Given the description of an element on the screen output the (x, y) to click on. 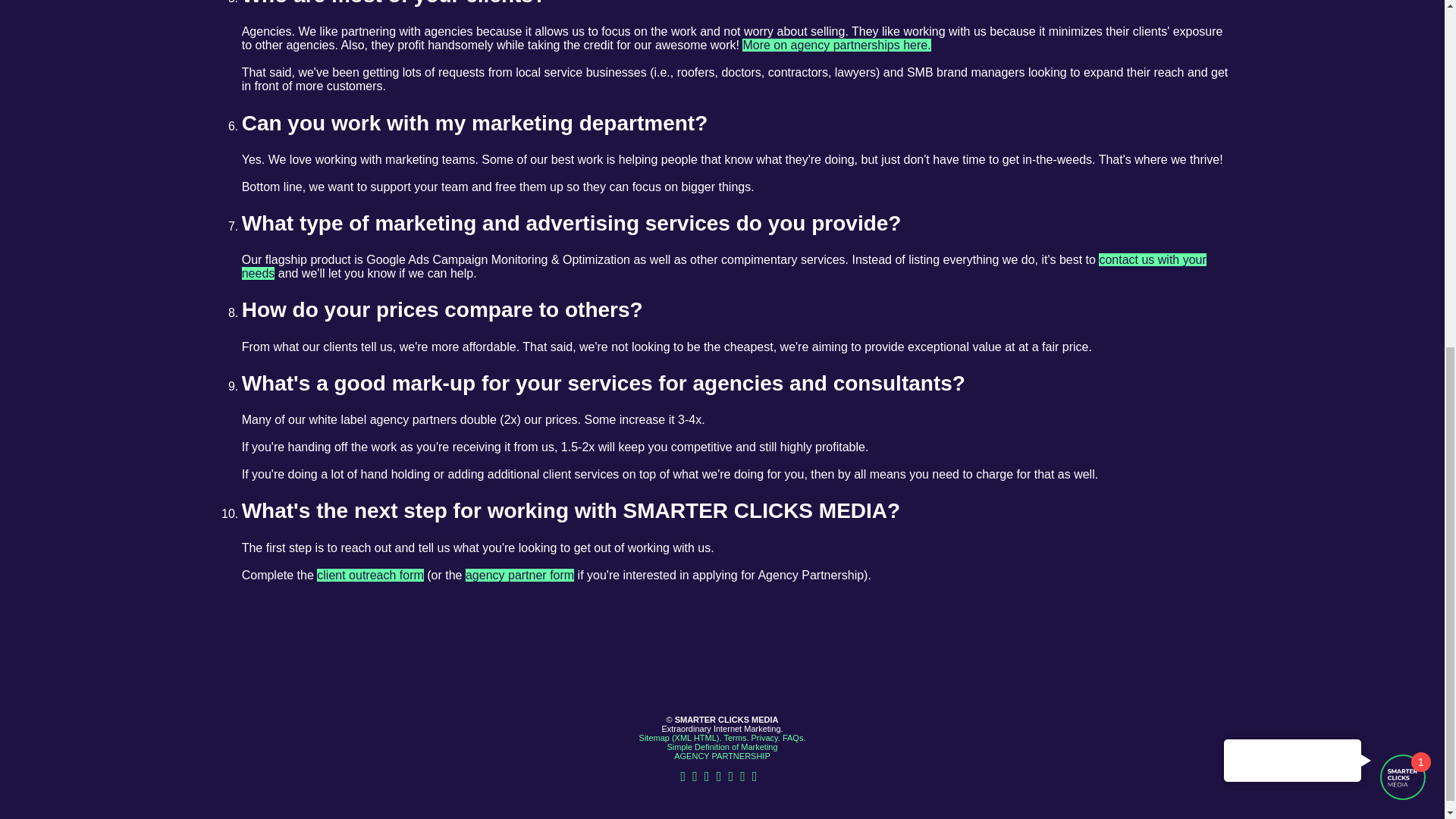
client outreach form (370, 574)
Terms. (735, 737)
AGENCY PARTNERSHIP (722, 755)
Simple Definition of Marketing (721, 746)
Extraordinary Internet Marketing. (722, 728)
Privacy. (764, 737)
